Given the description of an element on the screen output the (x, y) to click on. 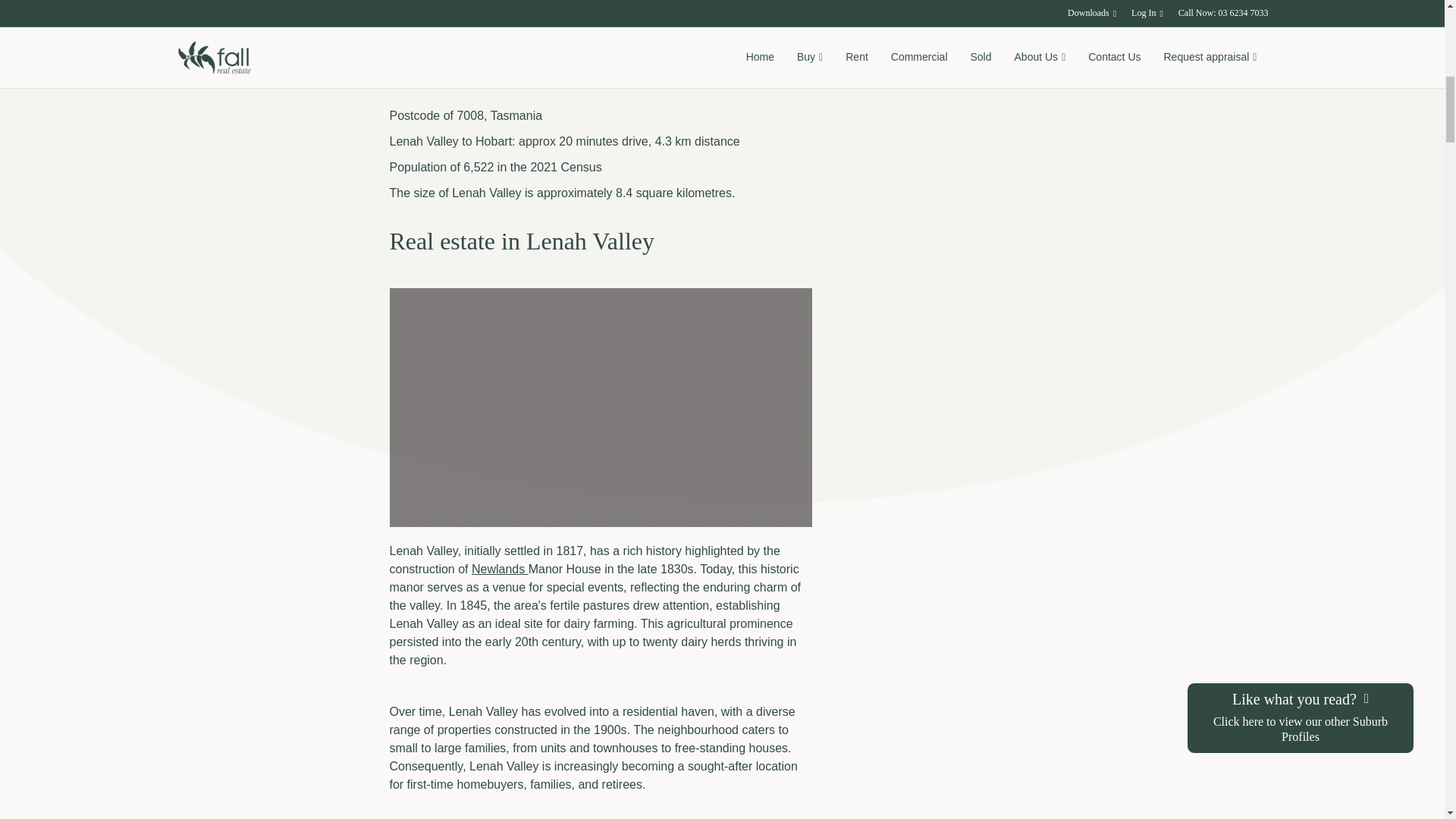
Newlands (499, 568)
